Given the description of an element on the screen output the (x, y) to click on. 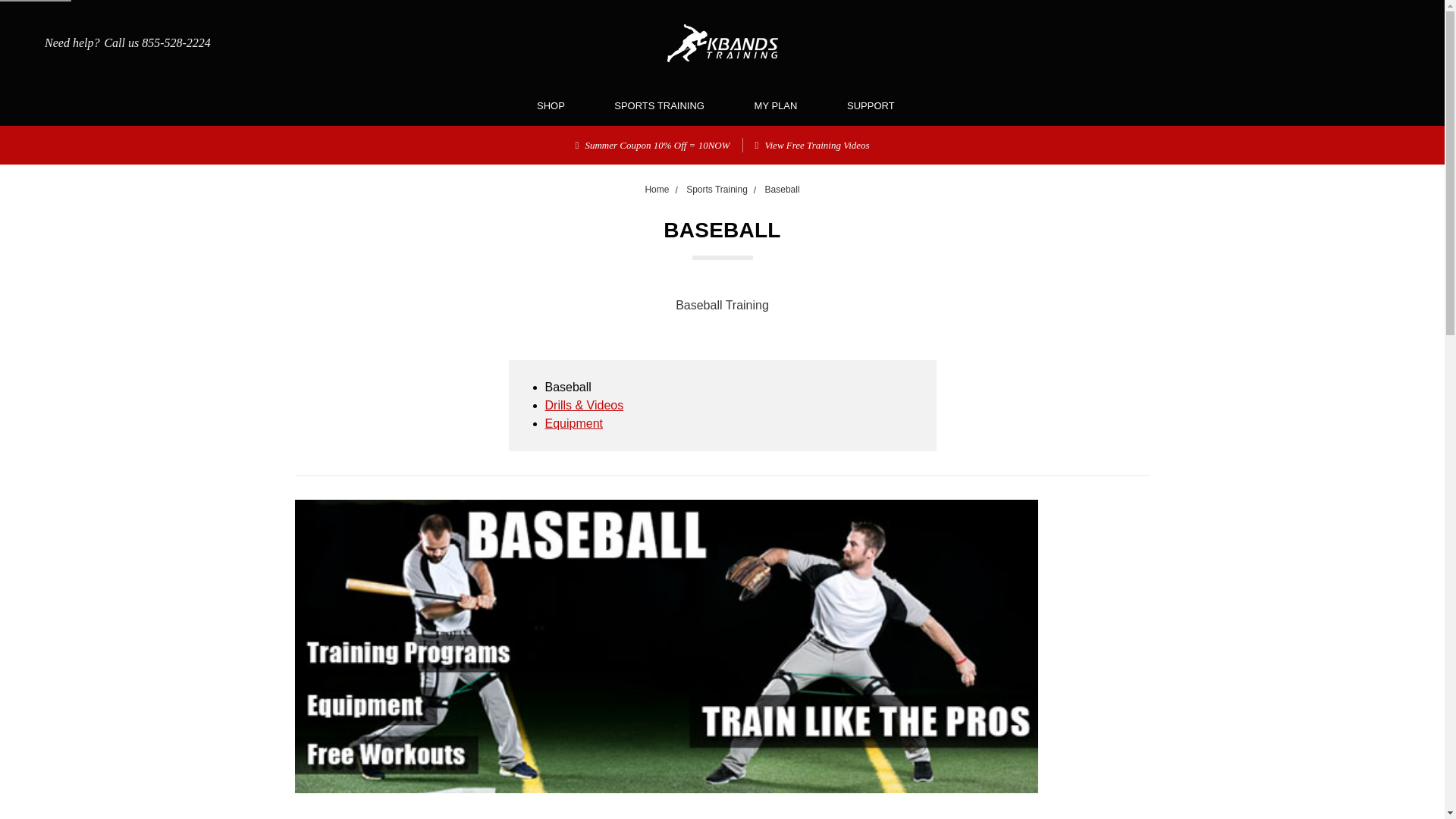
SHOP (556, 106)
SPORTS TRAINING (665, 106)
Need help?Call us 855-528-2224 (116, 43)
MY PLAN (782, 106)
SUPPORT (877, 106)
Kbands Training (721, 43)
